Given the description of an element on the screen output the (x, y) to click on. 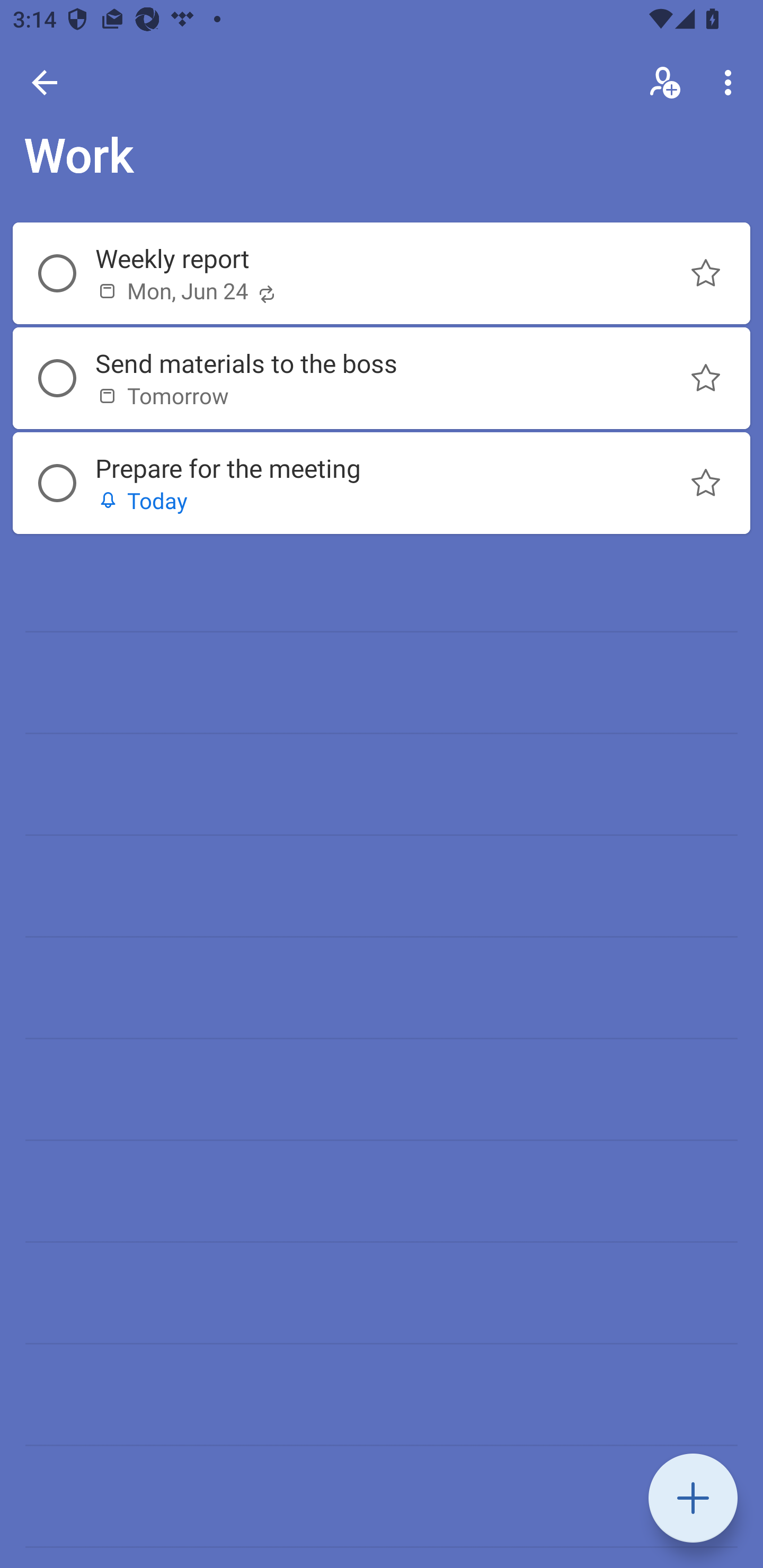
Add a task (692, 1497)
